Given the description of an element on the screen output the (x, y) to click on. 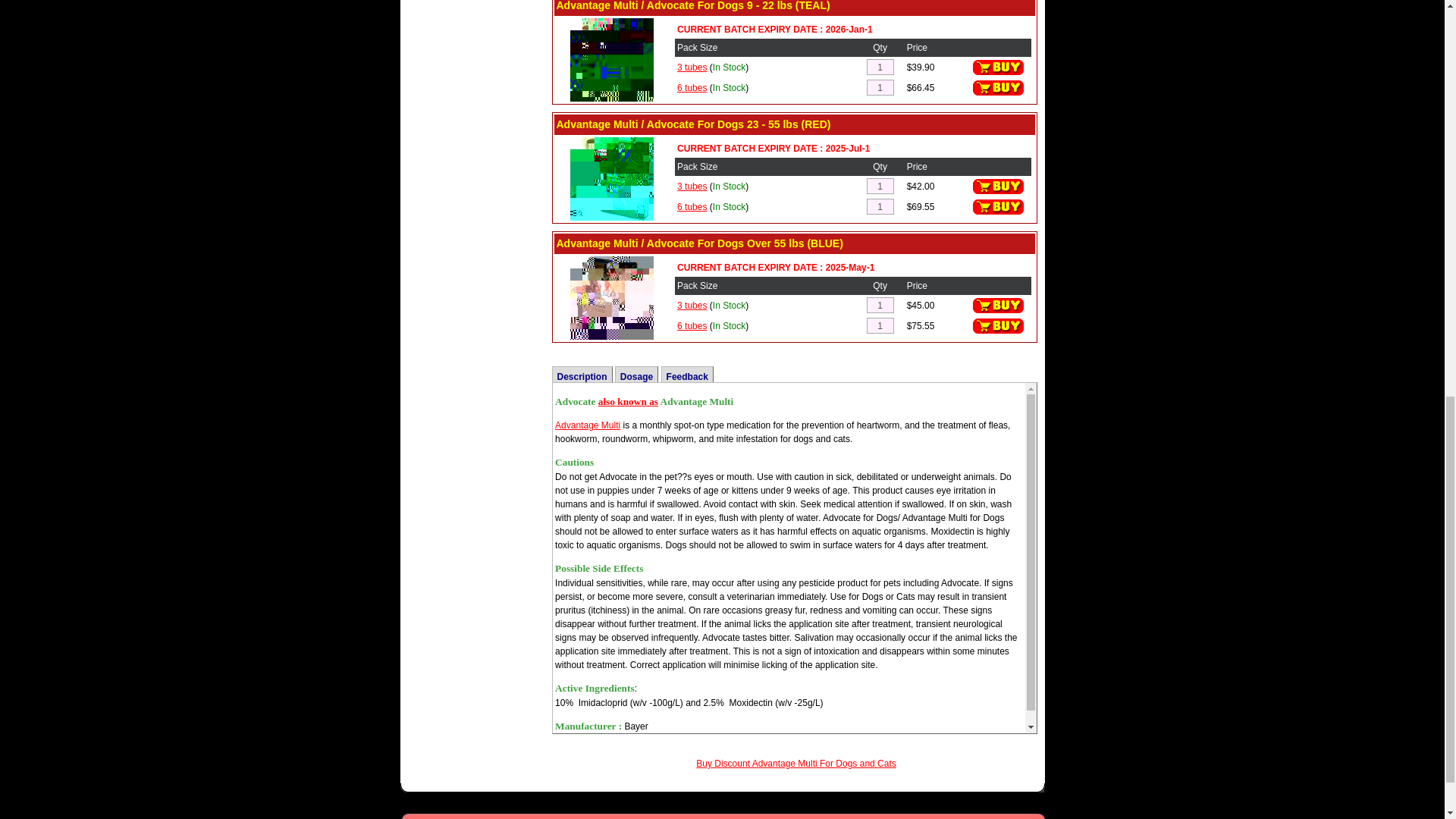
3 tubes (691, 67)
1 (879, 66)
6 tubes (691, 86)
1 (879, 206)
1 (879, 325)
1 (879, 304)
1 (879, 87)
1 (879, 186)
